Given the description of an element on the screen output the (x, y) to click on. 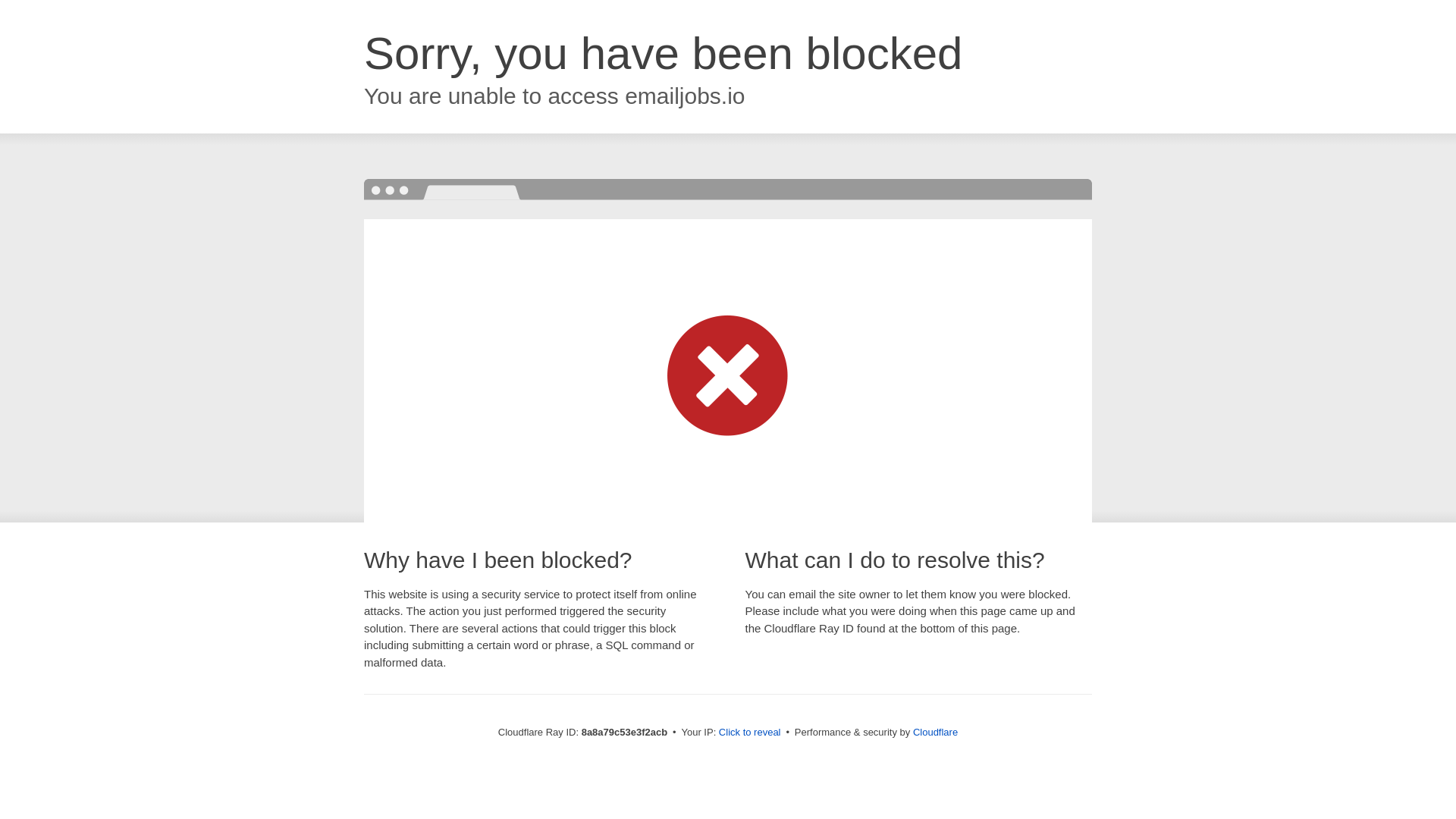
Cloudflare (935, 731)
Click to reveal (749, 732)
